Given the description of an element on the screen output the (x, y) to click on. 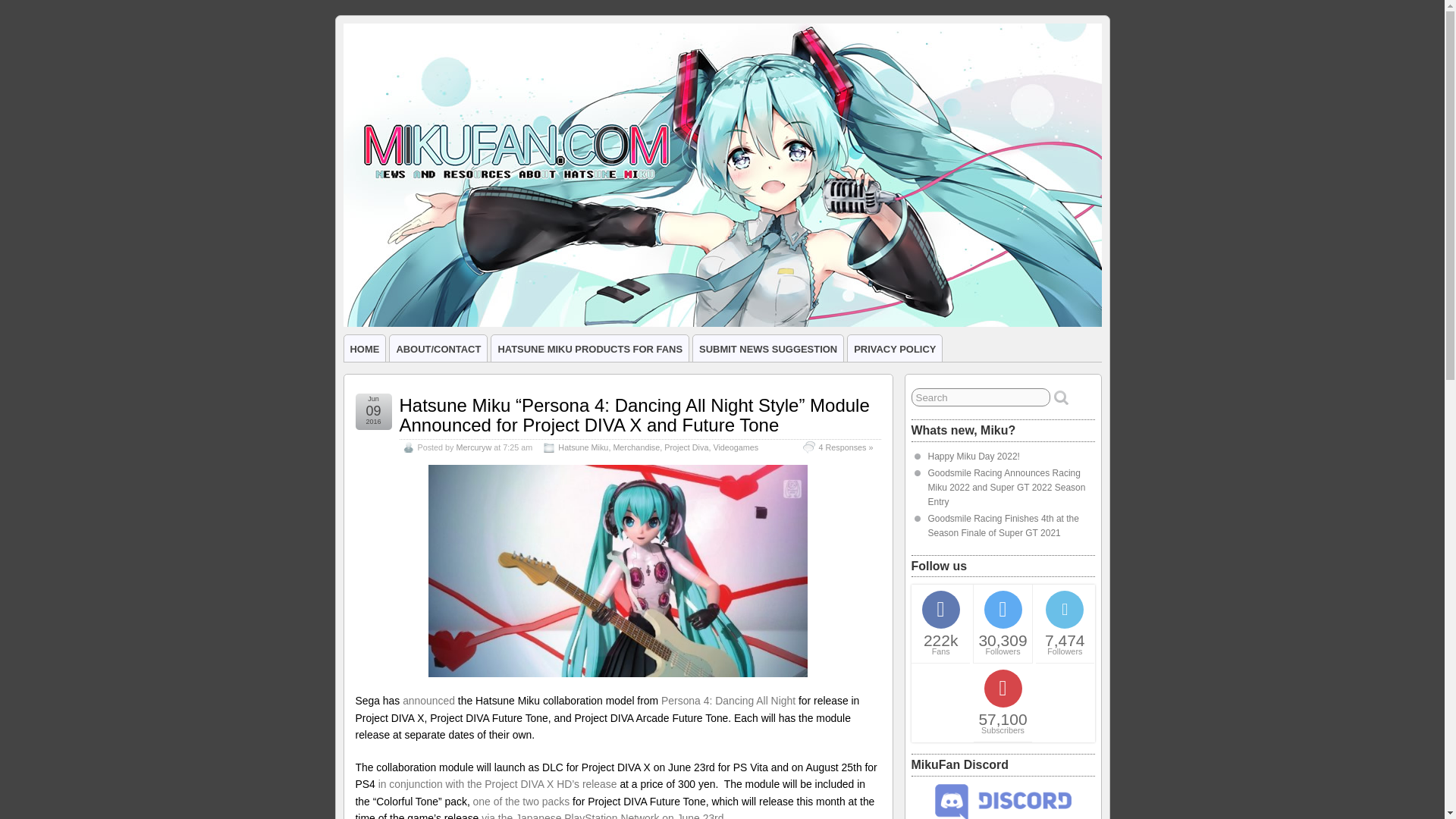
MikuFan Discord (1002, 816)
HATSUNE MIKU PRODUCTS FOR FANS (590, 347)
Persona 4: Dancing All Night (727, 700)
Hatsune Miku (582, 447)
PRIVACY POLICY (894, 347)
SUBMIT NEWS SUGGESTION (768, 347)
Merchandise (635, 447)
HOME (364, 347)
